Given the description of an element on the screen output the (x, y) to click on. 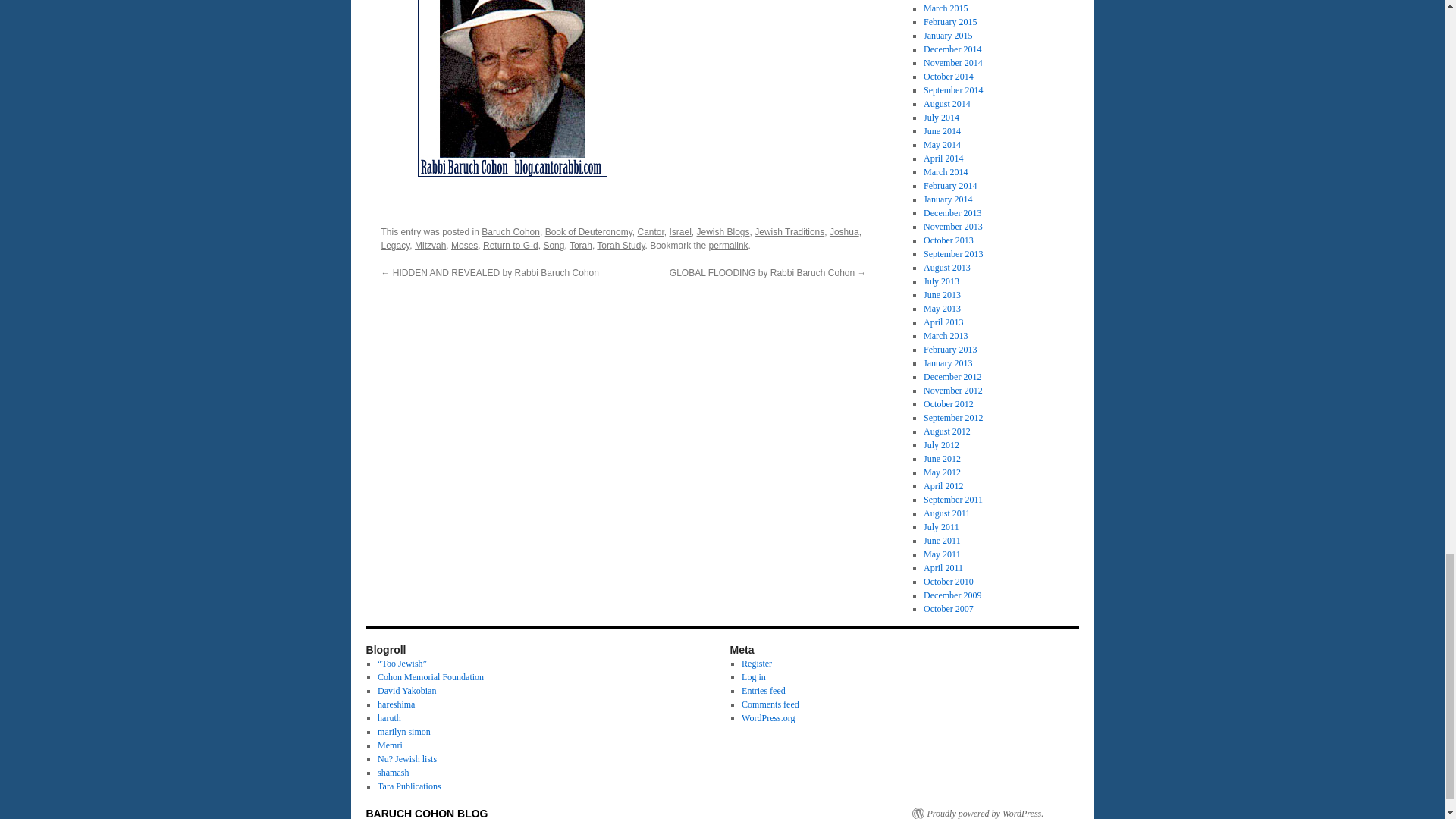
Song (553, 245)
Torah Study (620, 245)
Records, Multi-media (406, 690)
Joshua (844, 231)
Return to G-d (510, 245)
permalink (728, 245)
Baruch Cohon (510, 231)
Israel (679, 231)
Jewish Traditions (789, 231)
Mitzvah (429, 245)
